Given the description of an element on the screen output the (x, y) to click on. 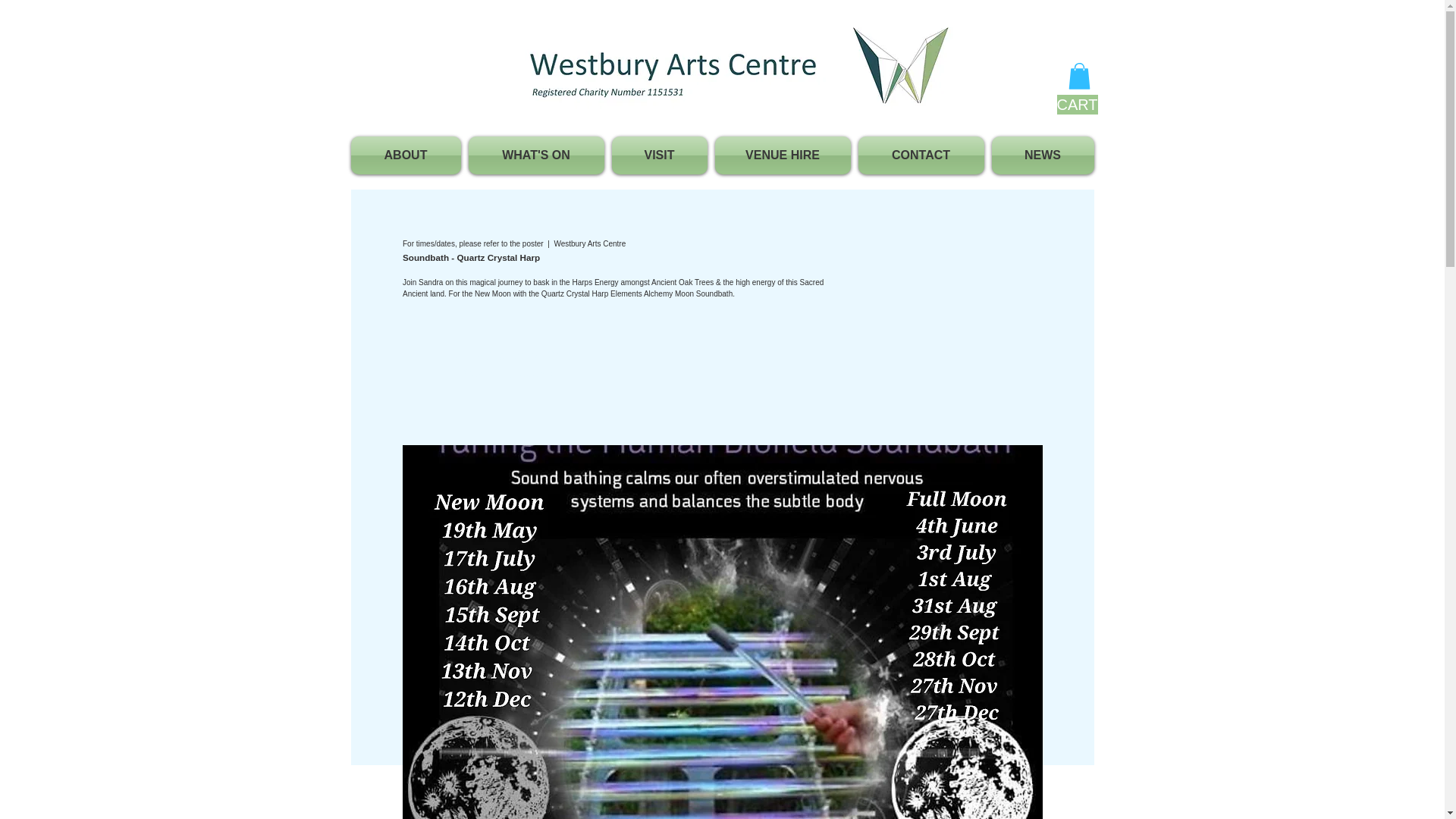
ABOUT (407, 155)
CART (1077, 104)
See other events (508, 373)
VENUE HIRE (782, 155)
CONTACT (920, 155)
NEWS (1040, 155)
WHAT'S ON (535, 155)
VISIT (659, 155)
